Given the description of an element on the screen output the (x, y) to click on. 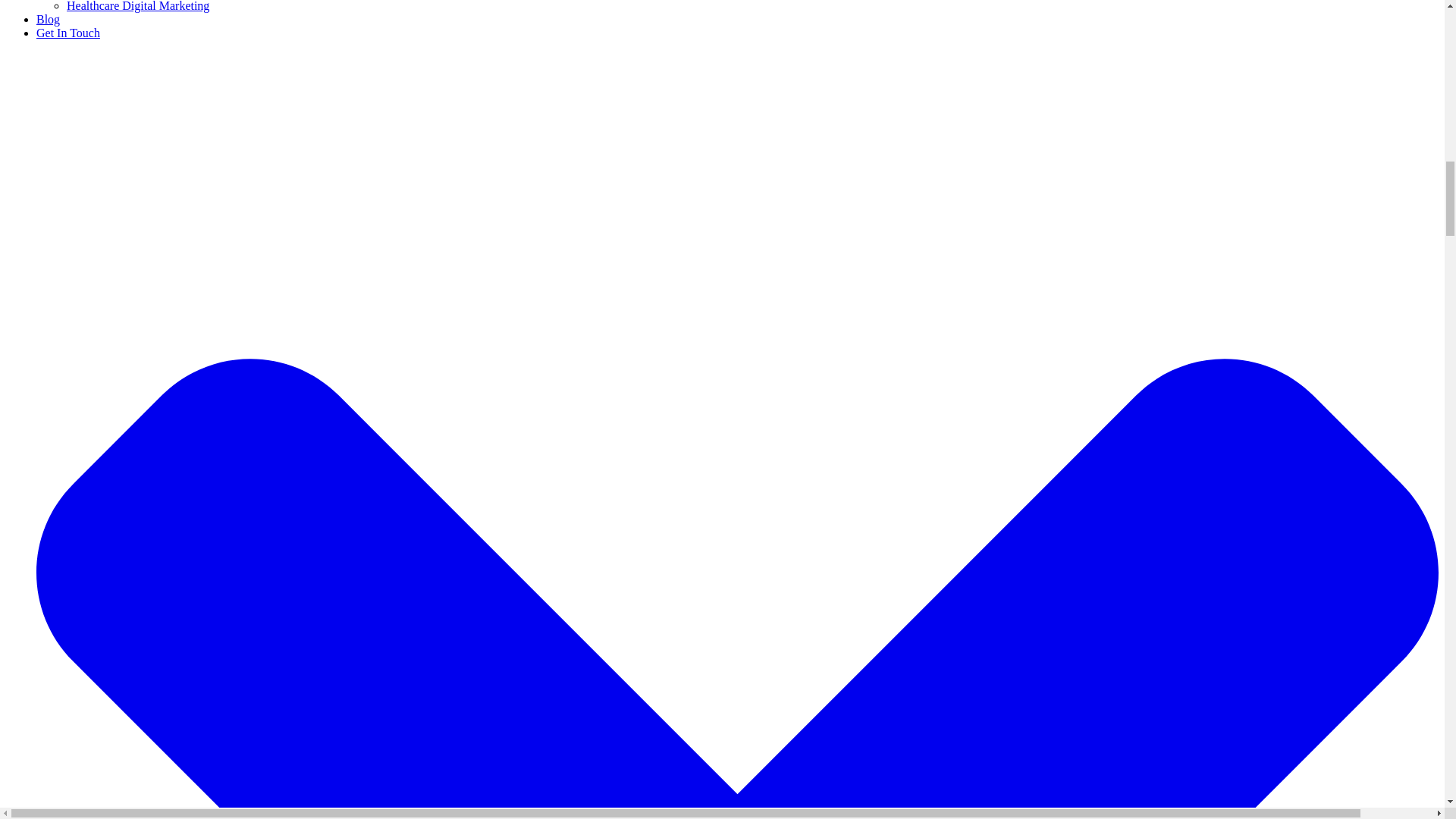
Healthcare Digital Marketing (137, 6)
Blog (47, 19)
Get In Touch (68, 32)
Blog (47, 19)
Healthcare Digital Marketing (137, 6)
Get In Touch (68, 32)
